Given the description of an element on the screen output the (x, y) to click on. 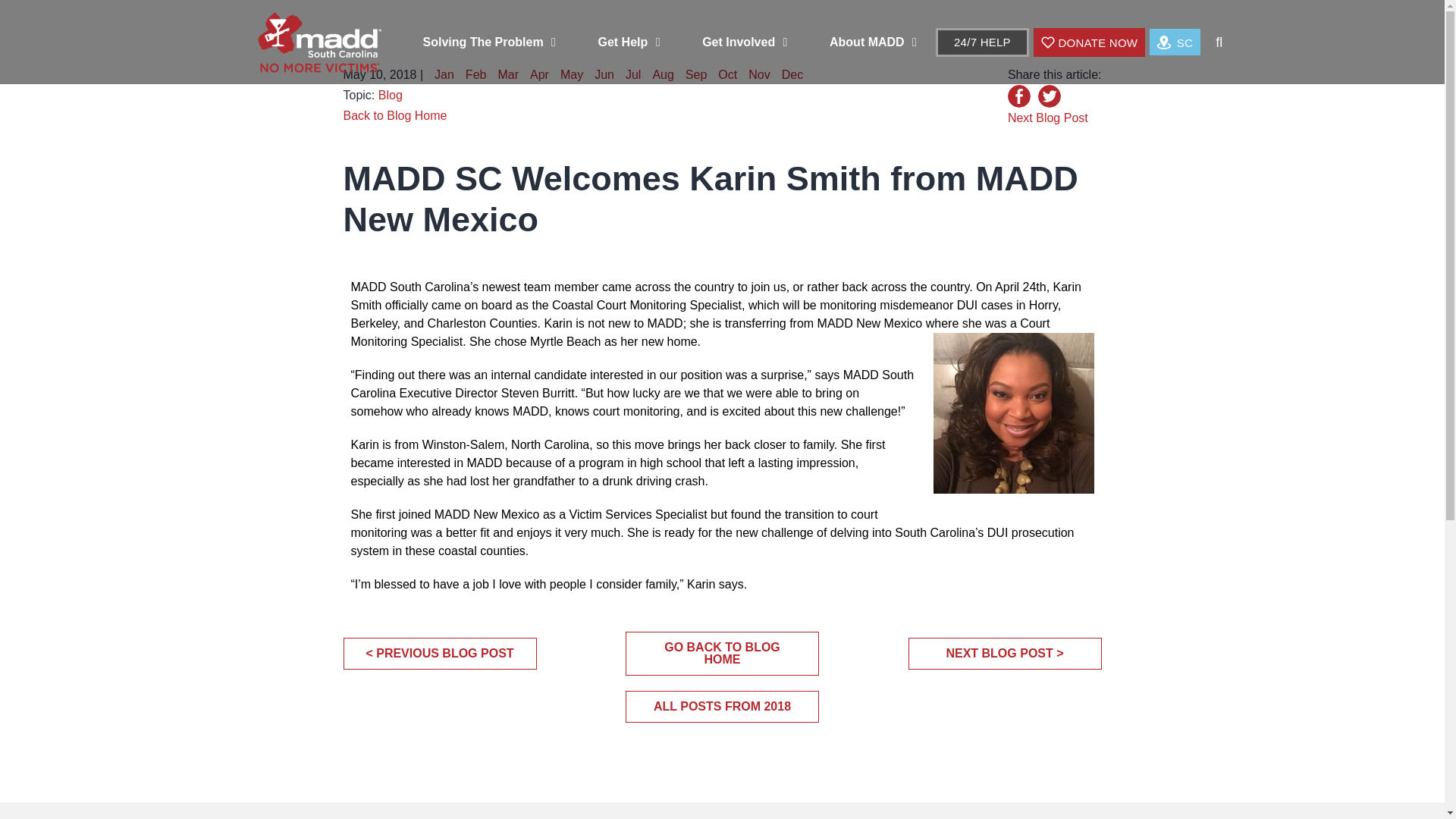
Solving The Problem (488, 41)
Get Involved (744, 41)
Get Help (628, 41)
